Given the description of an element on the screen output the (x, y) to click on. 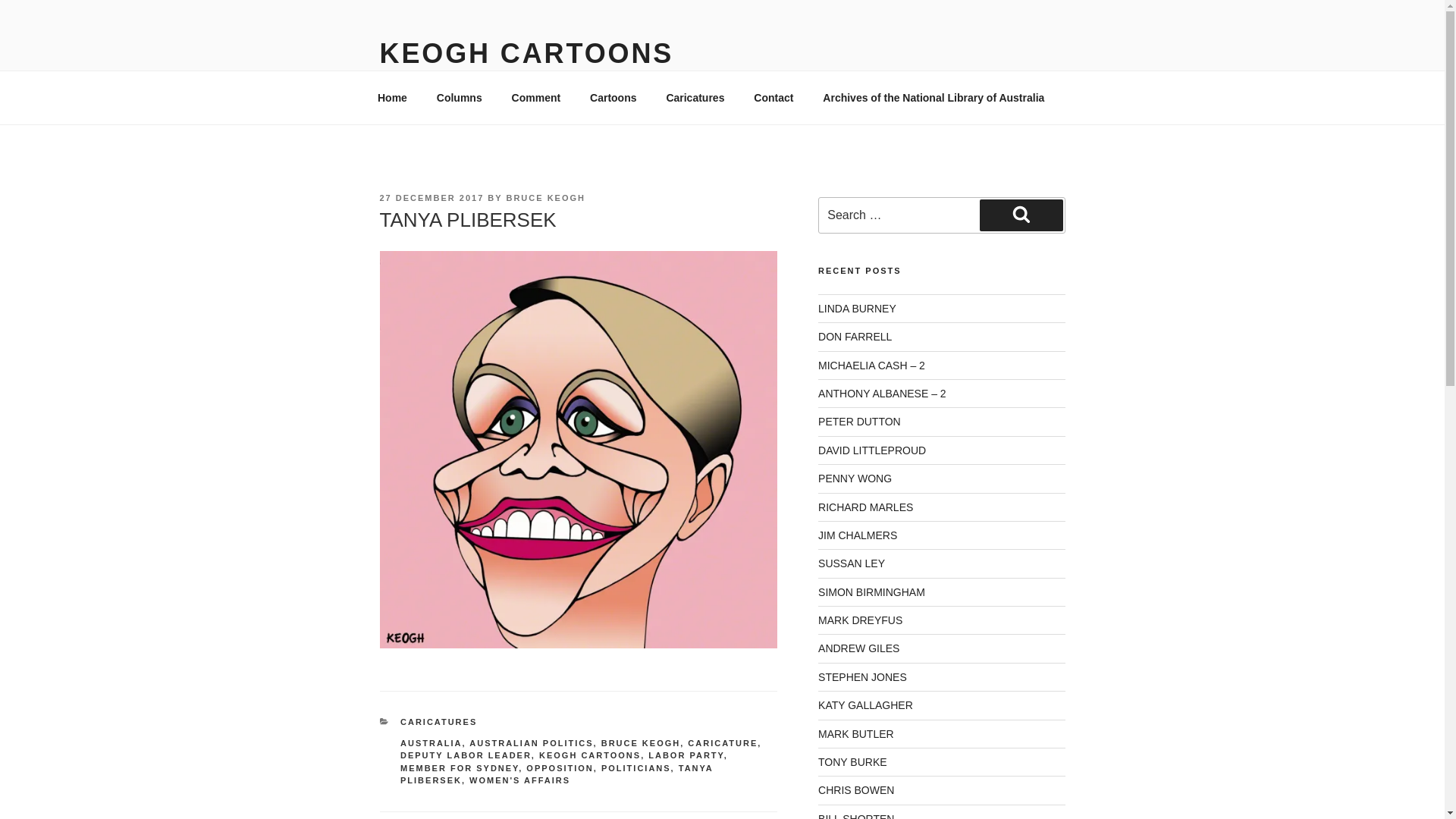
OPPOSITION Element type: text (559, 767)
Cartoons Element type: text (613, 97)
MARK BUTLER Element type: text (856, 734)
PENNY WONG Element type: text (854, 478)
AUSTRALIAN POLITICS Element type: text (531, 742)
Archives of the National Library of Australia Element type: text (933, 97)
AUSTRALIA Element type: text (431, 742)
CHRIS BOWEN Element type: text (856, 790)
DEPUTY LABOR LEADER Element type: text (465, 754)
SIMON BIRMINGHAM Element type: text (871, 592)
RICHARD MARLES Element type: text (865, 506)
MEMBER FOR SYDNEY Element type: text (459, 767)
CARICATURE Element type: text (722, 742)
27 DECEMBER 2017 Element type: text (431, 197)
Contact Element type: text (773, 97)
BRUCE KEOGH Element type: text (640, 742)
MARK DREYFUS Element type: text (860, 620)
Home Element type: text (392, 97)
KEOGH CARTOONS Element type: text (589, 754)
TANYA PLIBERSEK Element type: text (556, 774)
JIM CHALMERS Element type: text (857, 535)
Comment Element type: text (536, 97)
DAVID LITTLEPROUD Element type: text (871, 450)
TONY BURKE Element type: text (852, 762)
PETER DUTTON Element type: text (859, 421)
Search Element type: text (1020, 215)
KEOGH CARTOONS Element type: text (526, 53)
ANDREW GILES Element type: text (858, 648)
LINDA BURNEY Element type: text (857, 308)
SUSSAN LEY Element type: text (851, 563)
DON FARRELL Element type: text (854, 336)
KATY GALLAGHER Element type: text (865, 705)
STEPHEN JONES Element type: text (862, 677)
WOMEN'S AFFAIRS Element type: text (519, 779)
BRUCE KEOGH Element type: text (545, 197)
Caricatures Element type: text (694, 97)
LABOR PARTY Element type: text (685, 754)
CARICATURES Element type: text (438, 721)
Columns Element type: text (459, 97)
POLITICIANS Element type: text (636, 767)
